Given the description of an element on the screen output the (x, y) to click on. 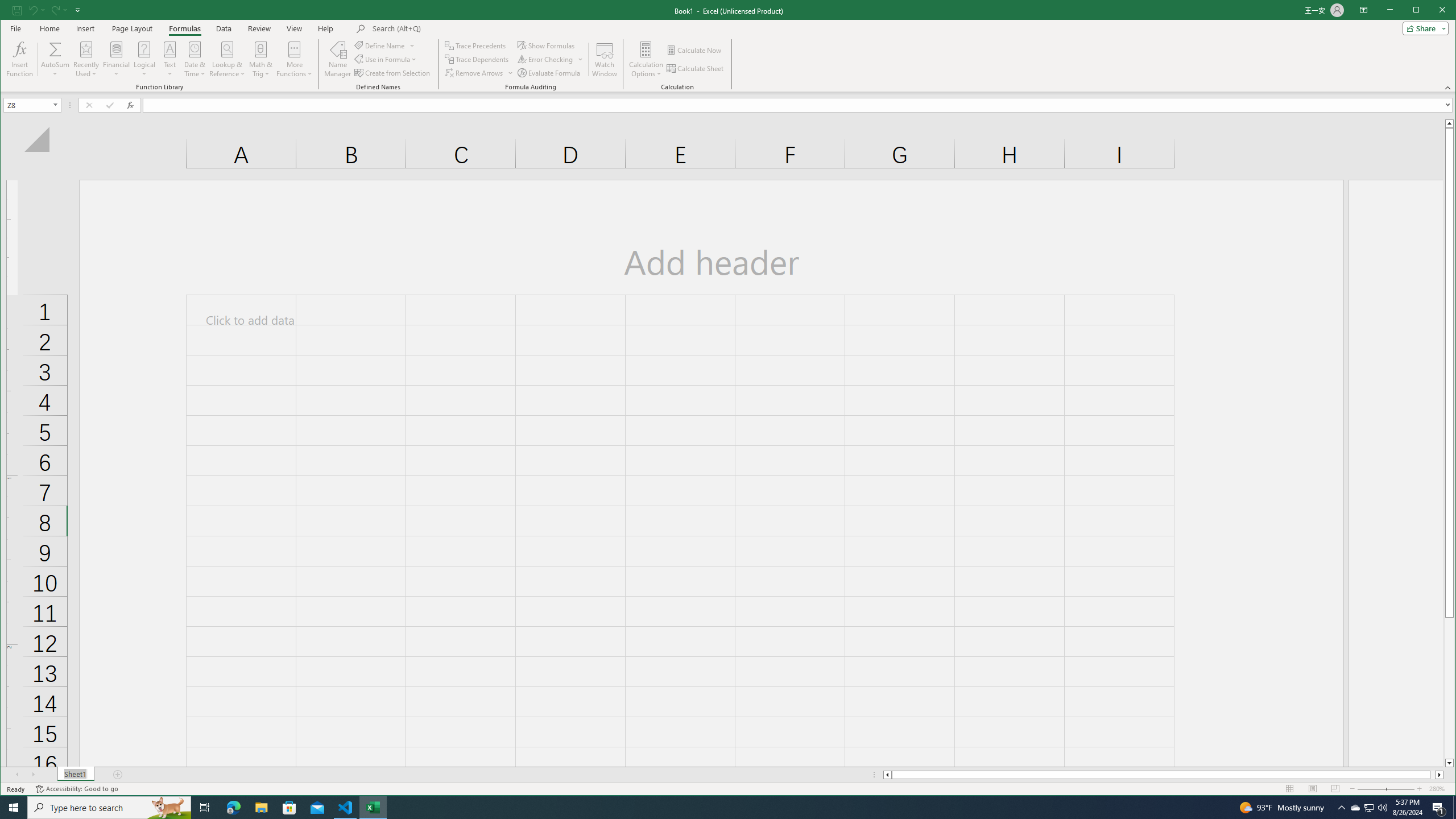
File Explorer (261, 807)
Show desktop (1454, 807)
Excel - 1 running window (373, 807)
Lookup & Reference (227, 59)
Action Center, 1 new notification (1439, 807)
